Given the description of an element on the screen output the (x, y) to click on. 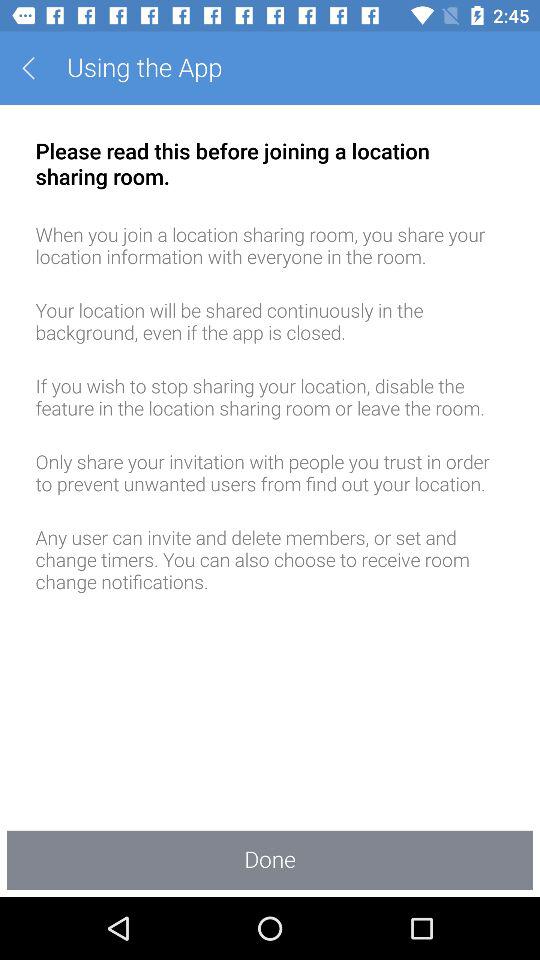
open the app next to the using the app (35, 67)
